Given the description of an element on the screen output the (x, y) to click on. 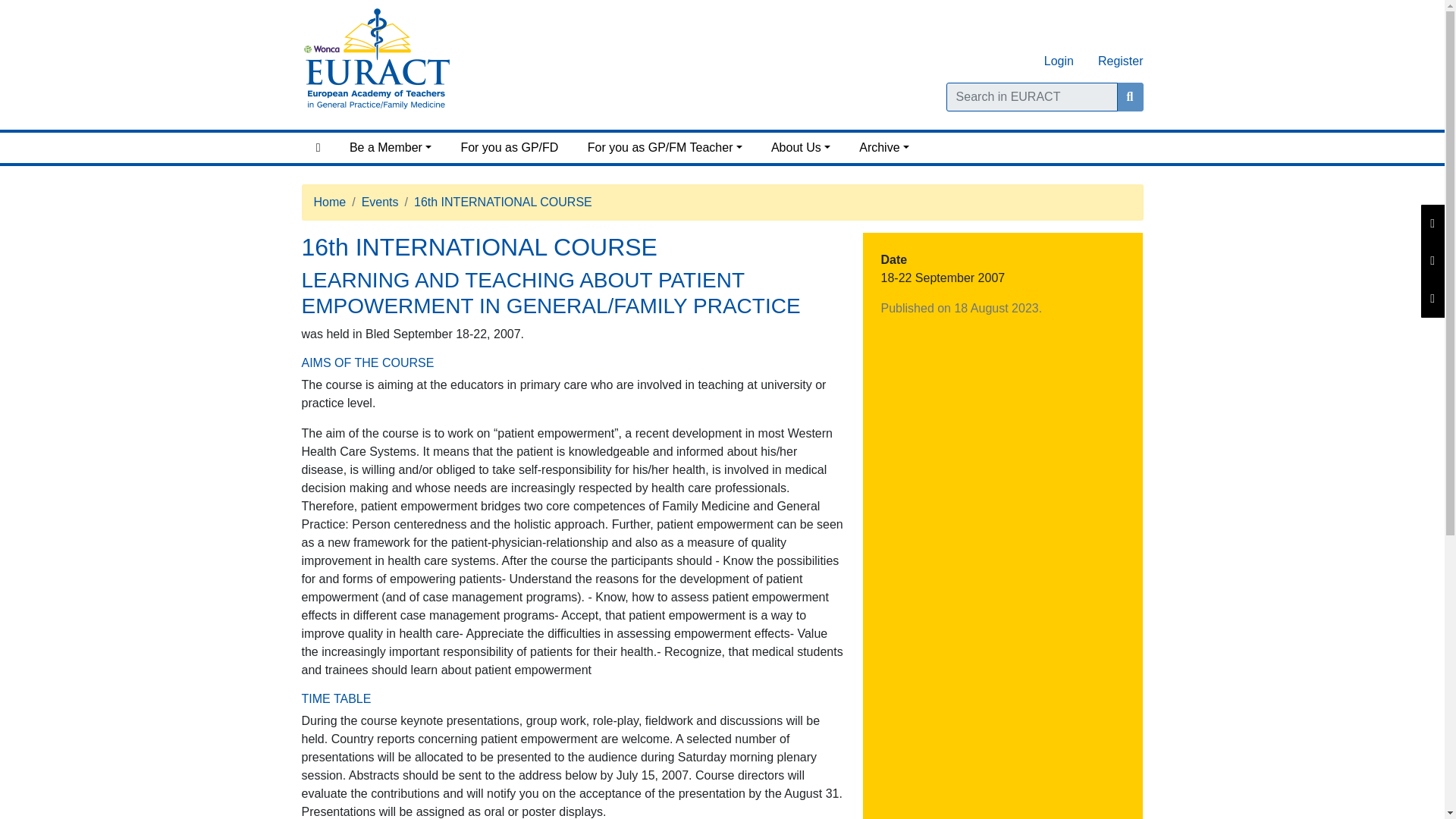
Login (1059, 60)
Archive (883, 147)
Home (317, 147)
About Us (800, 147)
Be a Member (390, 147)
Register (1114, 60)
